Given the description of an element on the screen output the (x, y) to click on. 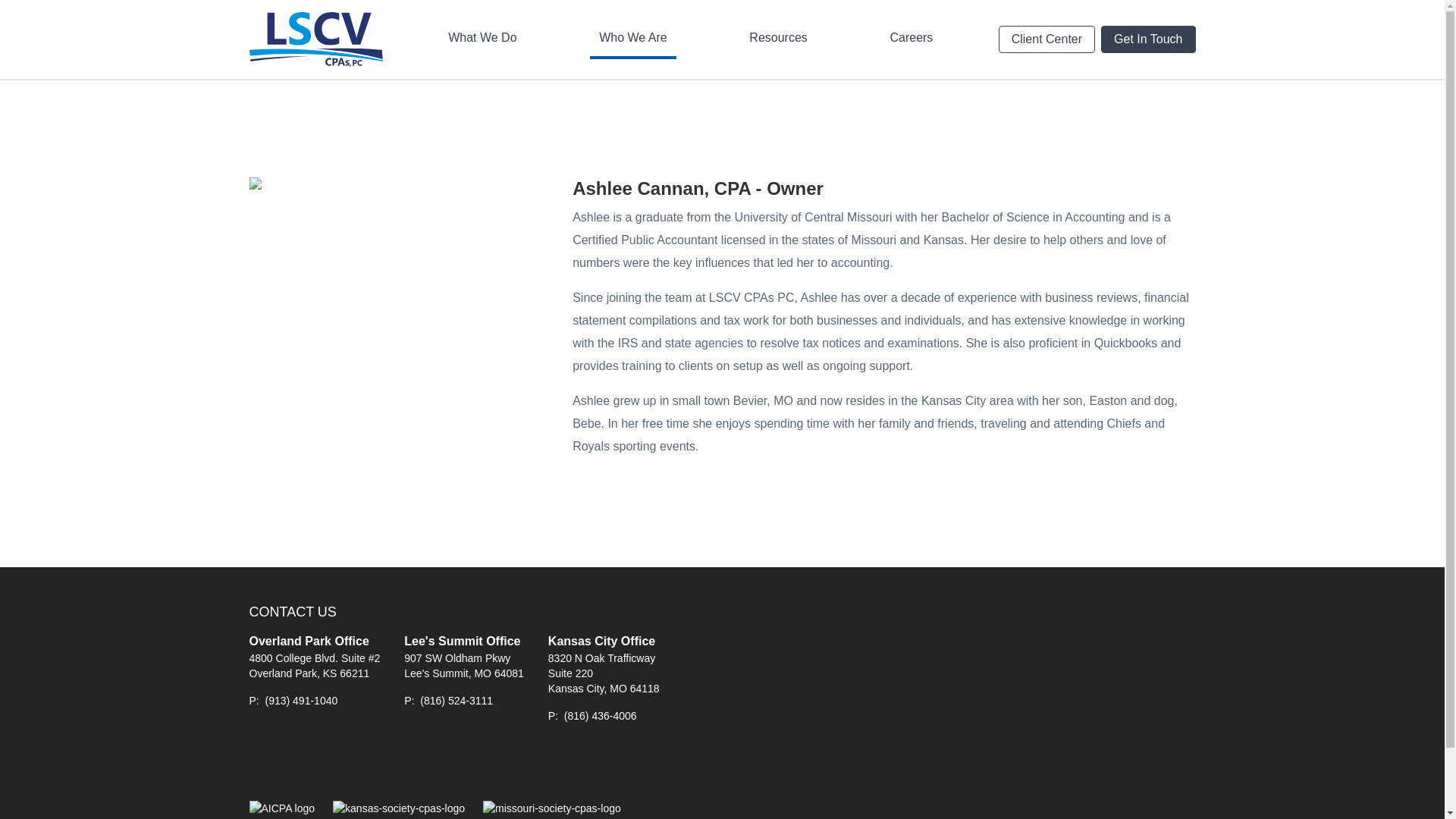
Careers (911, 38)
Twitter (298, 762)
LinkedIn (330, 762)
Get In Touch (1147, 39)
Learn more about Kansas Society of CPAs (398, 807)
Facebook (263, 762)
Learn more about American Institute of CPAs (281, 807)
Client Center (1046, 39)
Learn more about Missouri Society of CPAs (856, 20)
